Given the description of an element on the screen output the (x, y) to click on. 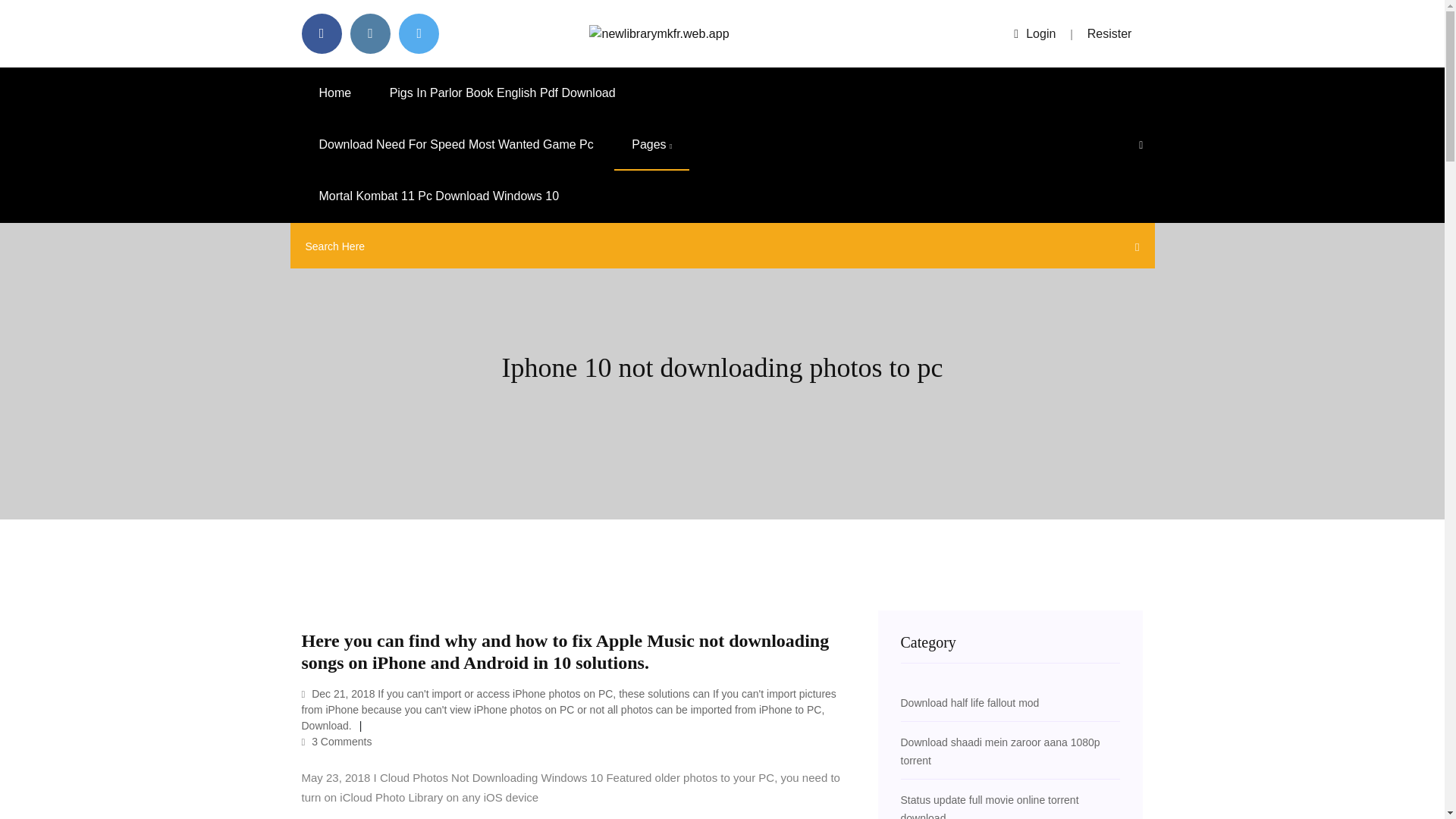
3 Comments (336, 741)
Mortal Kombat 11 Pc Download Windows 10 (438, 195)
Resister (1109, 33)
Home (335, 92)
Pages (651, 144)
Login (1034, 33)
Download Need For Speed Most Wanted Game Pc (456, 144)
Pigs In Parlor Book English Pdf Download (502, 92)
